Given the description of an element on the screen output the (x, y) to click on. 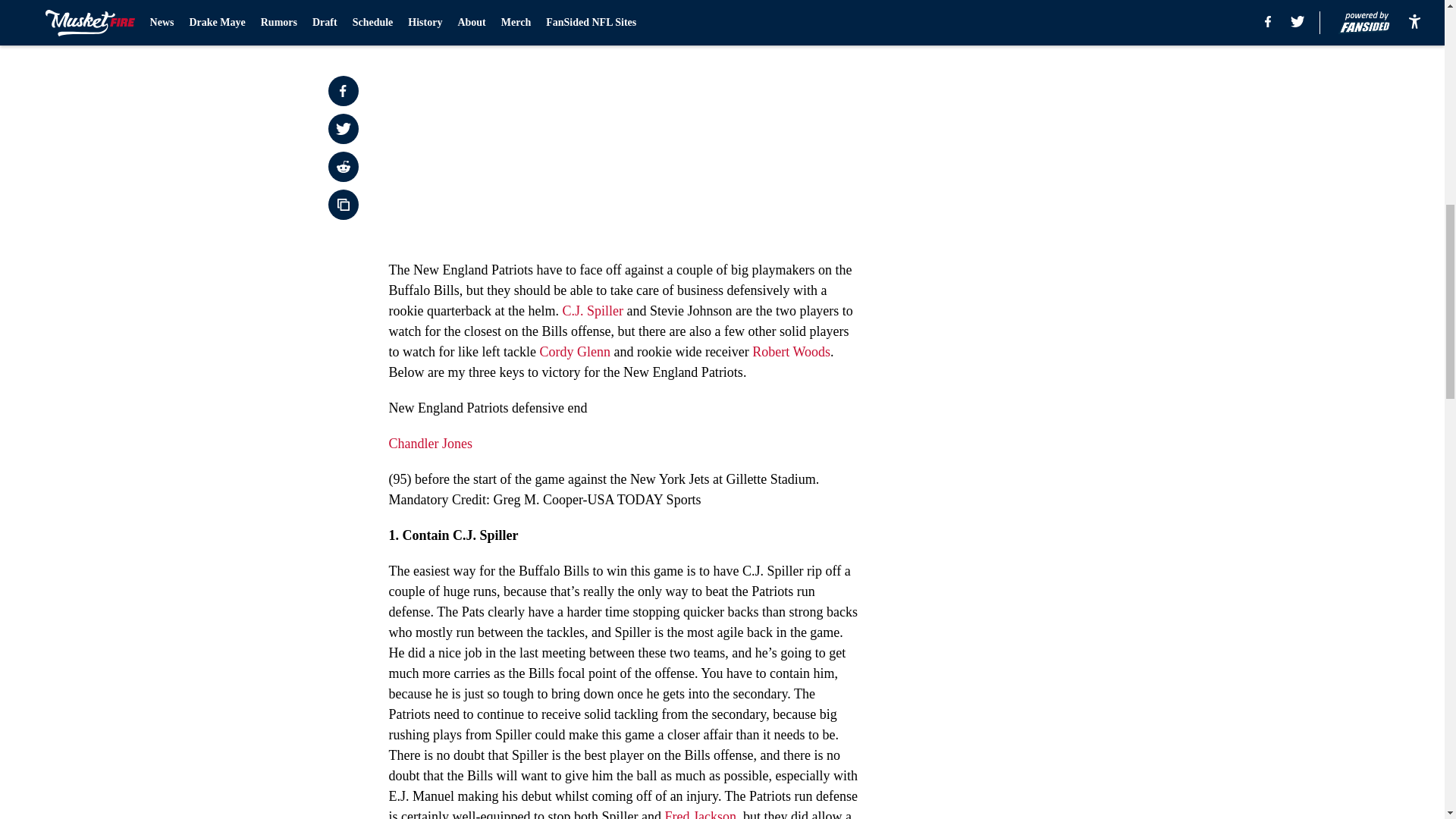
Chandler Jones (429, 443)
Robert Woods (790, 351)
C.J. Spiller (592, 310)
Fred Jackson (699, 814)
Cordy Glenn (574, 351)
